Given the description of an element on the screen output the (x, y) to click on. 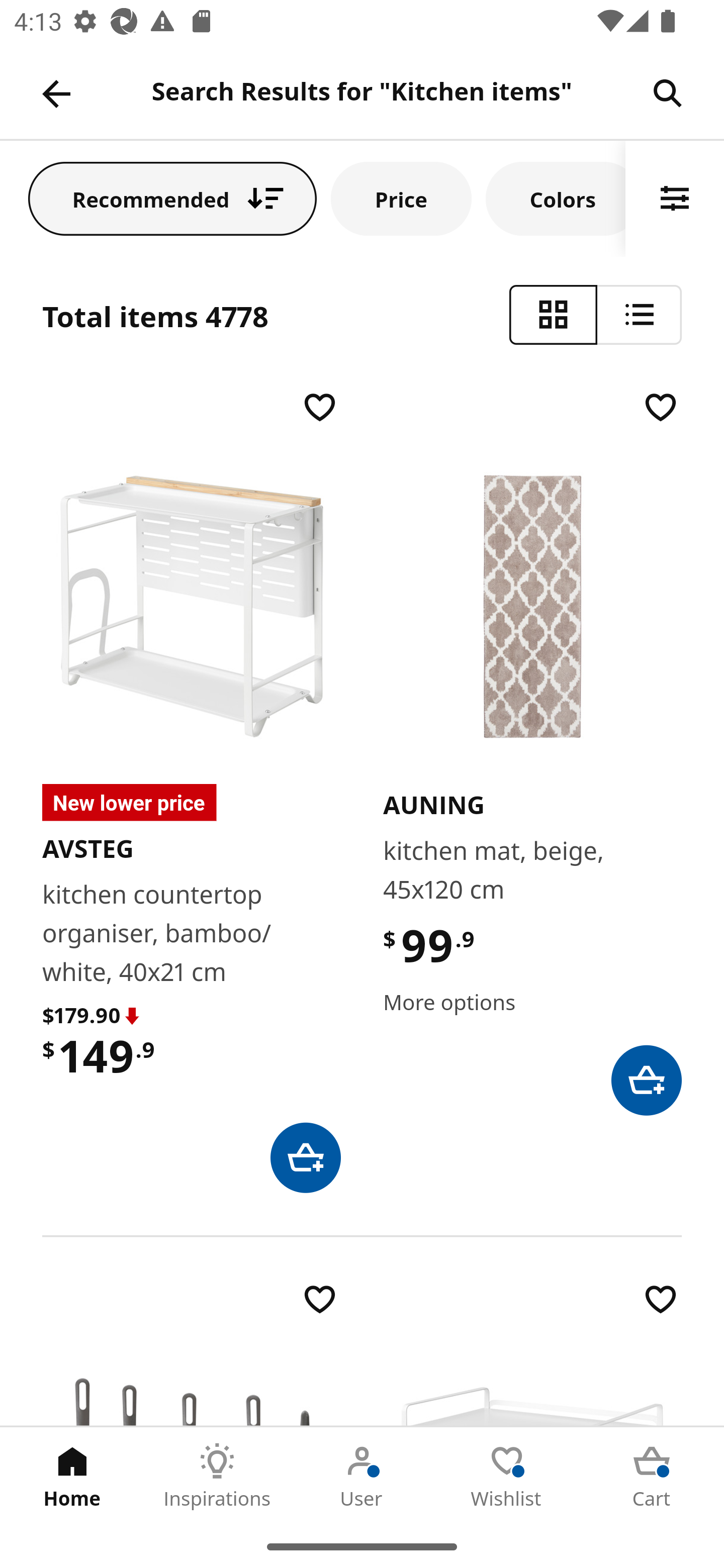
Recommended (172, 198)
Price (400, 198)
Colors (555, 198)
Home
Tab 1 of 5 (72, 1476)
Inspirations
Tab 2 of 5 (216, 1476)
User
Tab 3 of 5 (361, 1476)
Wishlist
Tab 4 of 5 (506, 1476)
Cart
Tab 5 of 5 (651, 1476)
